Given the description of an element on the screen output the (x, y) to click on. 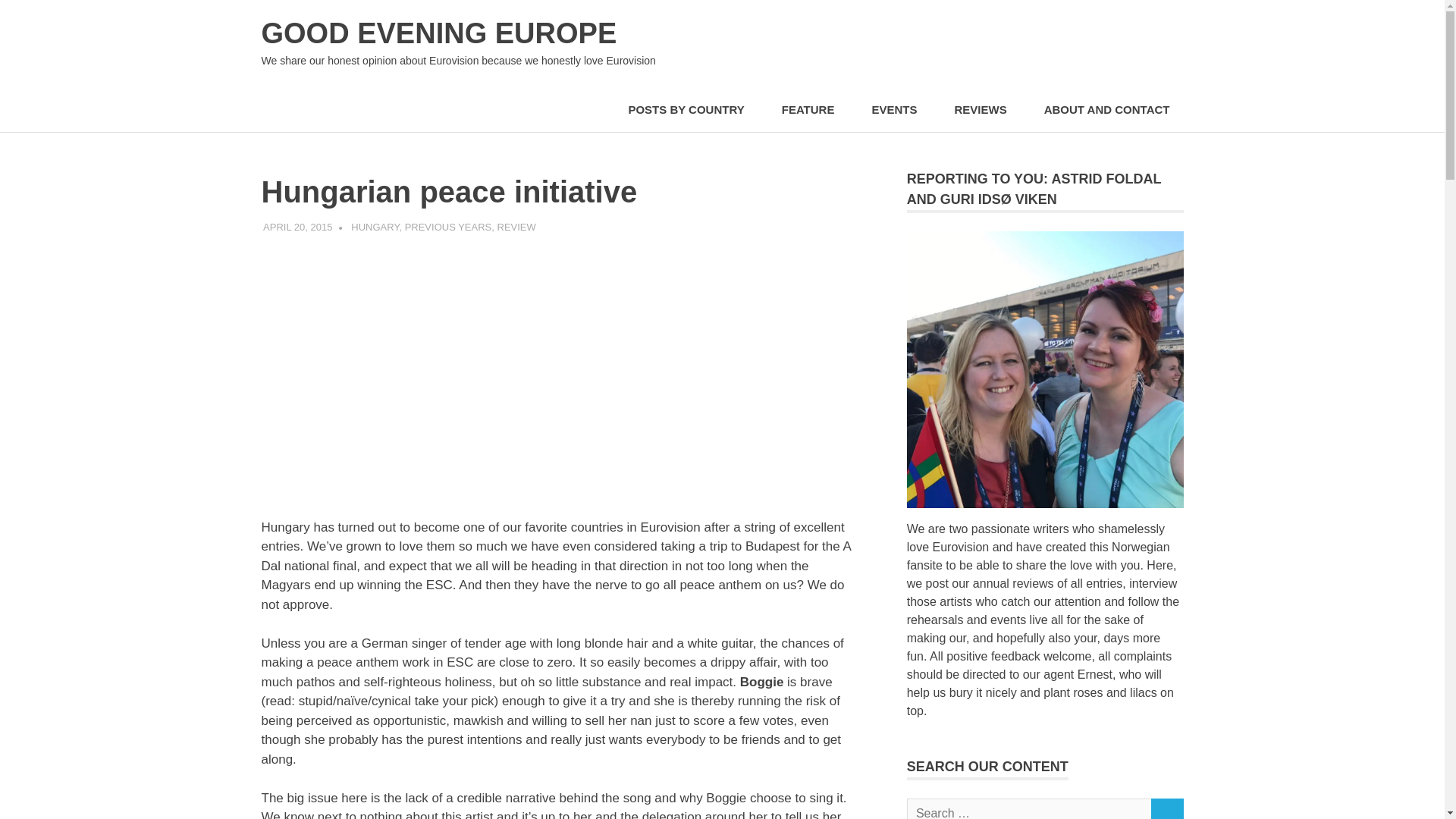
GOOD EVENING EUROPE (437, 33)
4:42 pm (297, 226)
View all posts by goodeveningeurope (406, 226)
POSTS BY COUNTRY (690, 109)
Search for: (1029, 808)
